Given the description of an element on the screen output the (x, y) to click on. 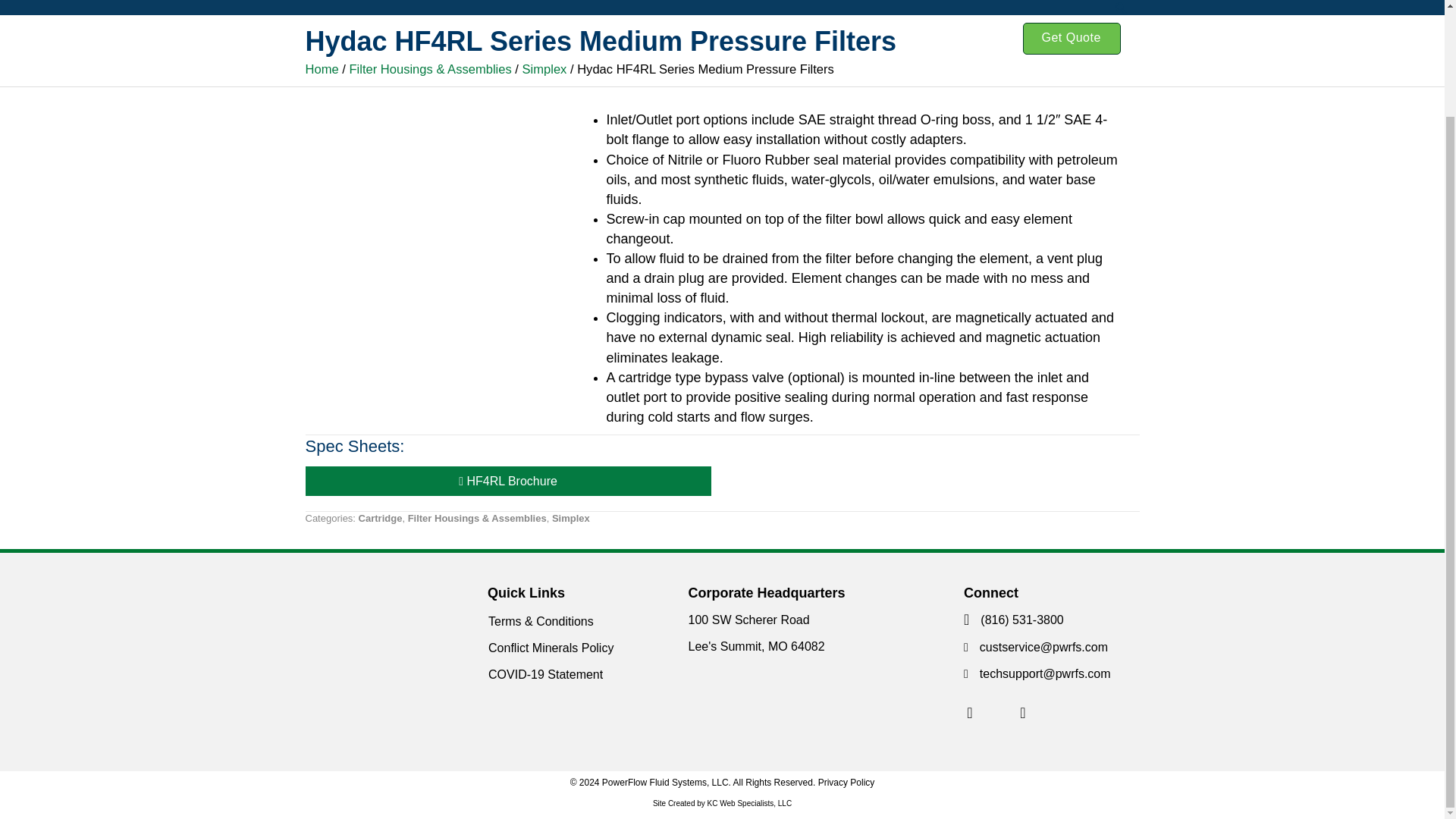
Simplex (570, 518)
HF4RL Brochure (507, 481)
HF4RL-Series-400x400-Web (432, 237)
Cartridge (380, 518)
Home (320, 69)
Simplex (544, 69)
COVID-19 Statement (584, 676)
PowerflowSymbol-Web-200x200 (379, 649)
Get Quote (1070, 38)
Headquarters (1022, 712)
